Given the description of an element on the screen output the (x, y) to click on. 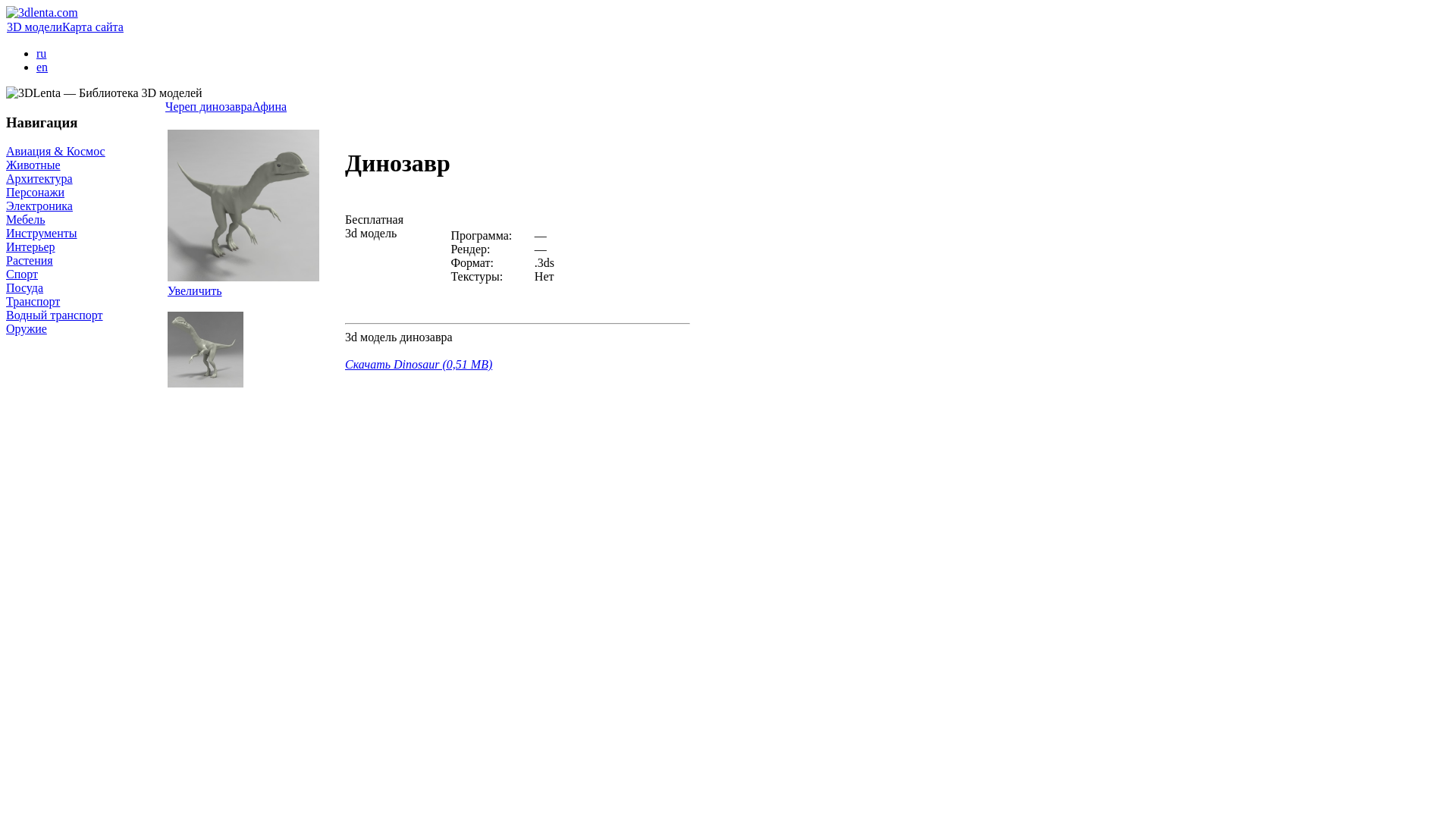
en Element type: text (41, 66)
ru Element type: text (41, 53)
Dinosaur Element type: hover (205, 382)
Advertisement Element type: hover (428, 502)
